Given the description of an element on the screen output the (x, y) to click on. 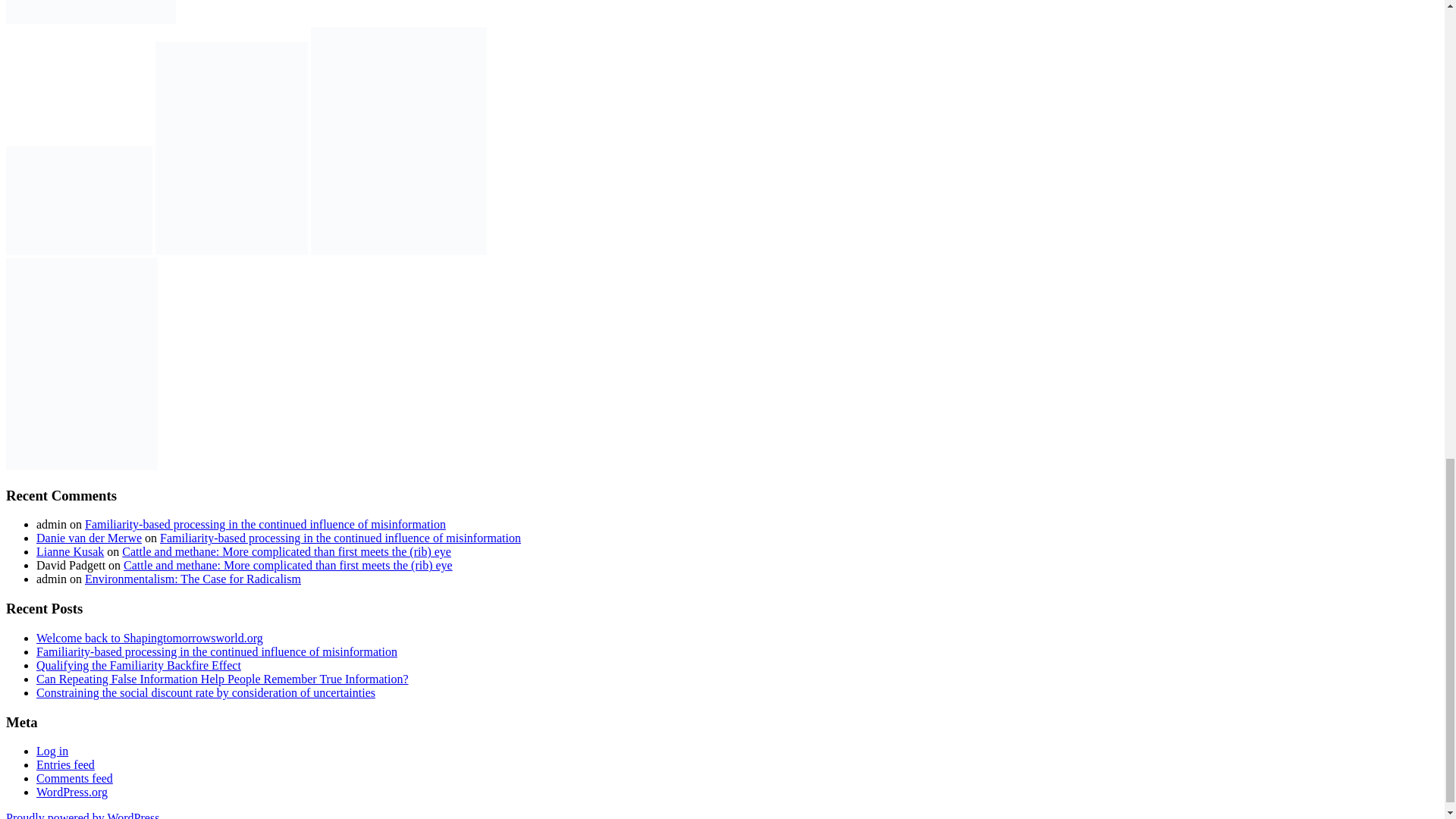
Follow Us on Research Gate (90, 12)
Follow Us on Publons (115, 12)
Follow Us on Twitter (42, 12)
Follow Us on Wikipedia (163, 12)
Follow Us on Facebook (17, 12)
Follow Us on Google Scholar (139, 12)
Follow Us on Orcid (66, 12)
